Given the description of an element on the screen output the (x, y) to click on. 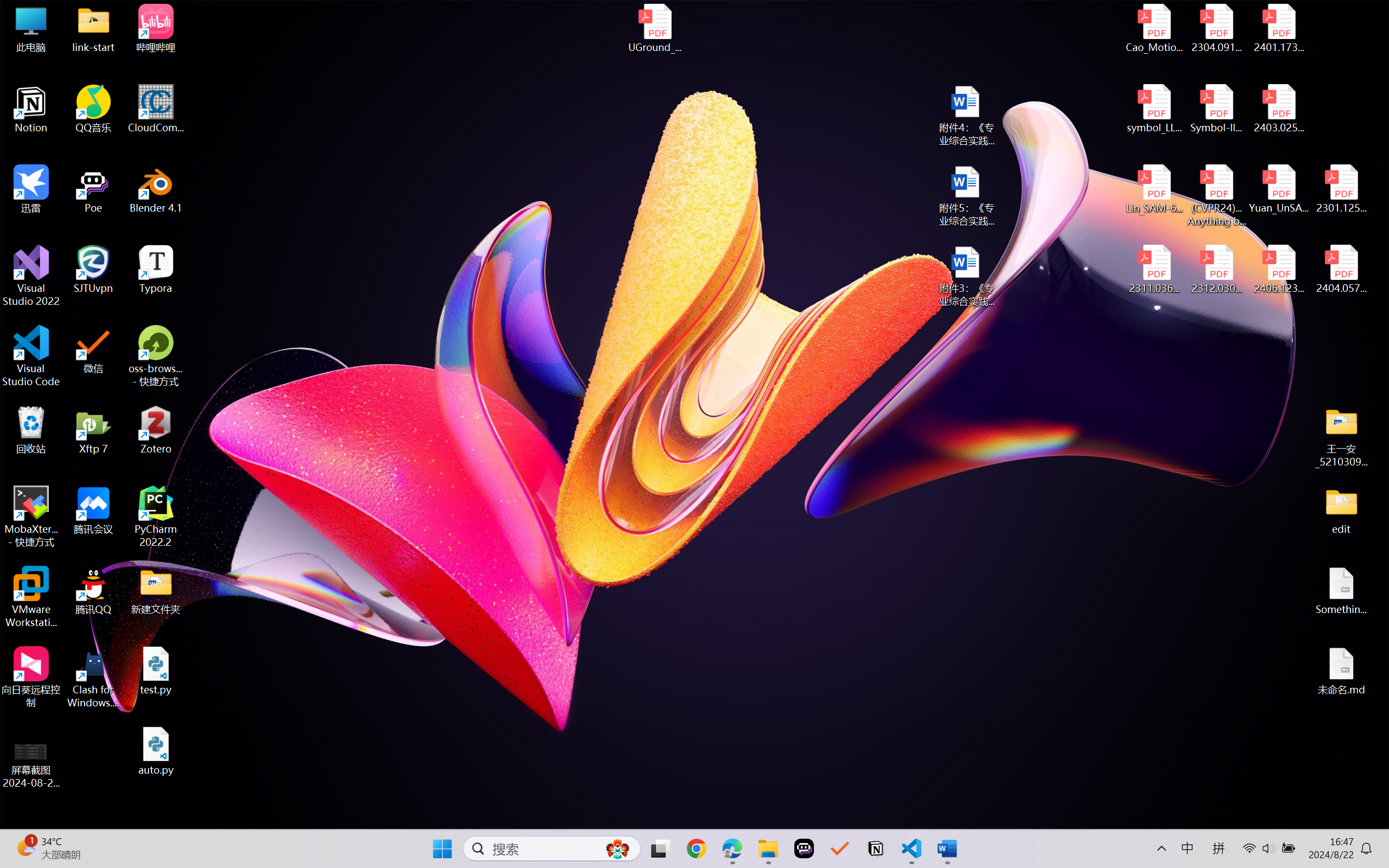
PyCharm 2022.2 (156, 516)
symbol_LLM.pdf (1154, 109)
(CVPR24)Matching Anything by Segmenting Anything.pdf (1216, 195)
